Given the description of an element on the screen output the (x, y) to click on. 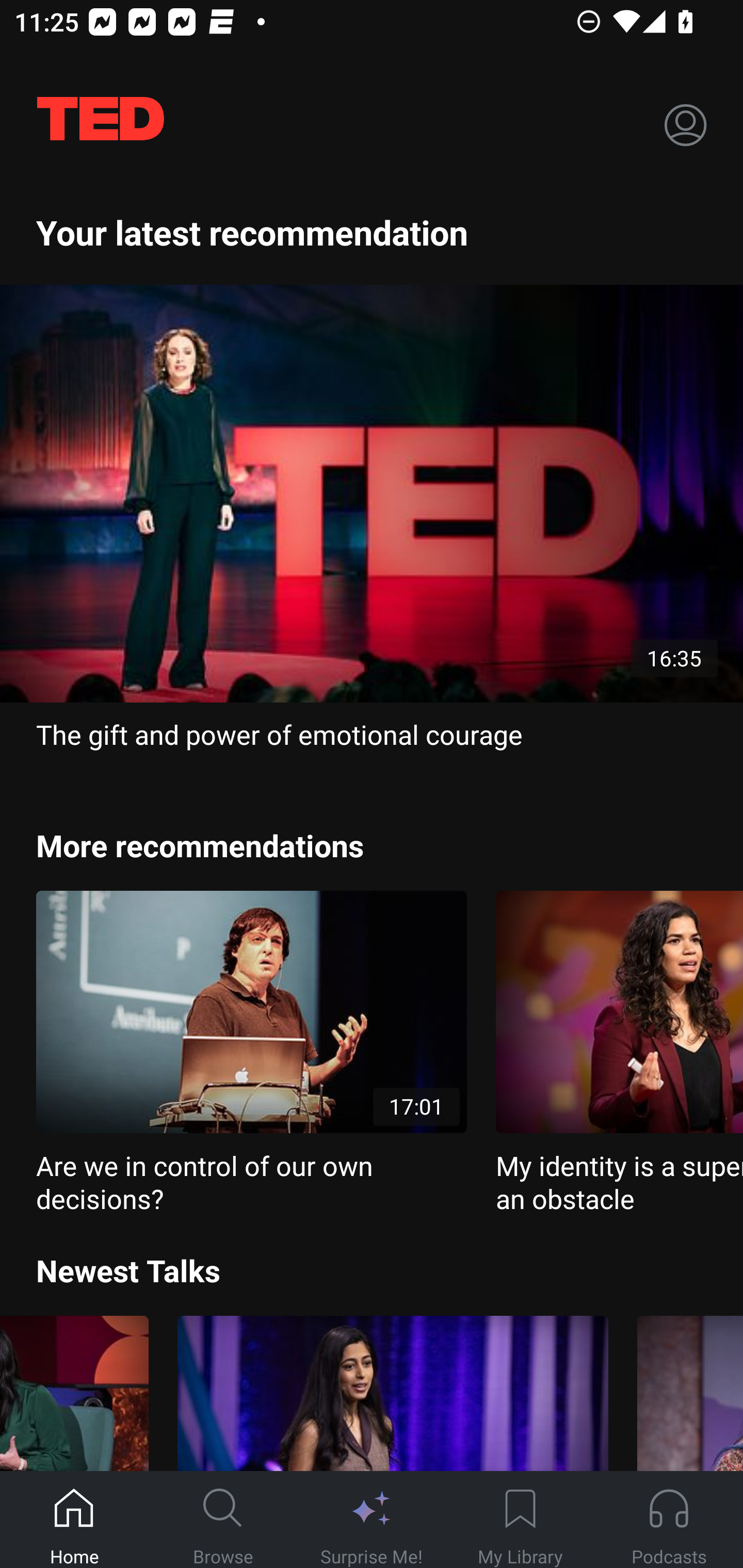
17:01 Are we in control of our own decisions? (251, 1053)
My identity is a superpower -- not an obstacle (619, 1053)
Home (74, 1520)
Browse (222, 1520)
Surprise Me! (371, 1520)
My Library (519, 1520)
Podcasts (668, 1520)
